Given the description of an element on the screen output the (x, y) to click on. 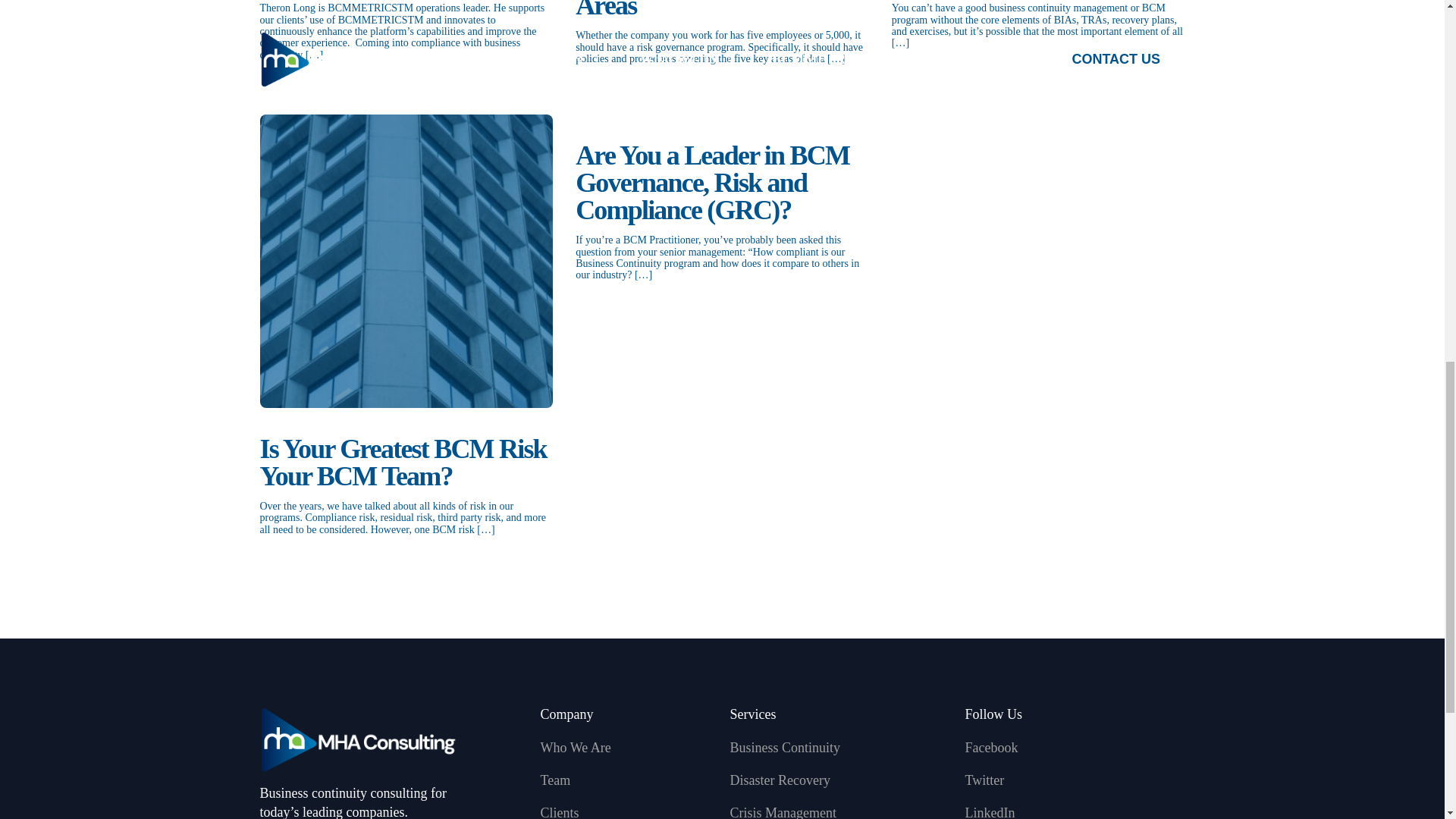
LinkedIn (1074, 811)
Is Your Greatest BCM Risk Your BCM Team? (406, 461)
Who We Are (627, 747)
View Post: Is Your Greatest BCM Risk Your BCM Team?  (406, 461)
Clients (627, 811)
Facebook (1074, 747)
Crisis Management (839, 811)
 View Post: Is Your Greatest BCM Risk Your BCM Team? (406, 260)
Twitter (1074, 780)
Team (627, 780)
Disaster Recovery (839, 780)
Business Continuity (839, 747)
